Given the description of an element on the screen output the (x, y) to click on. 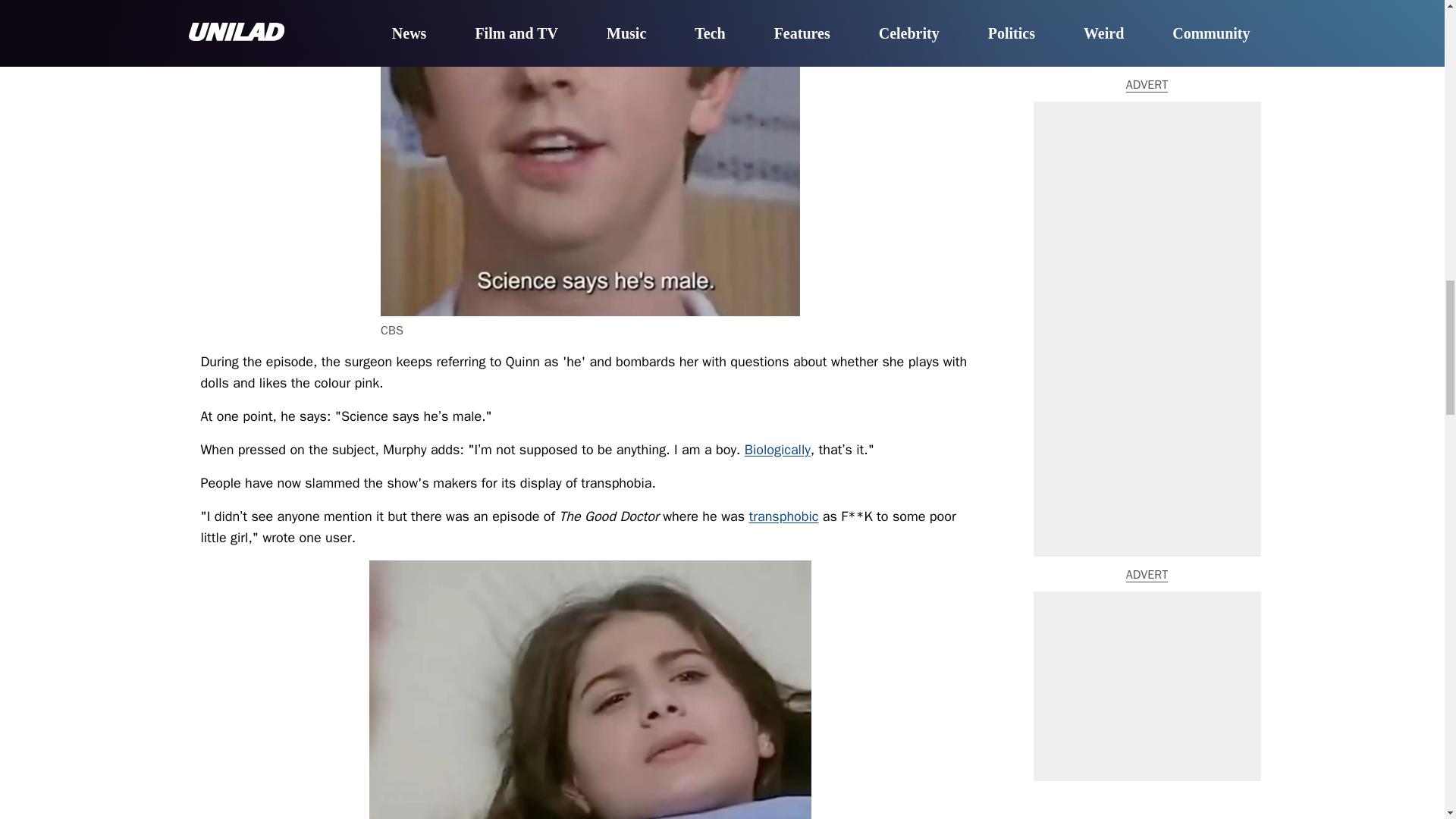
transphobic (783, 515)
Biologically (777, 449)
